Given the description of an element on the screen output the (x, y) to click on. 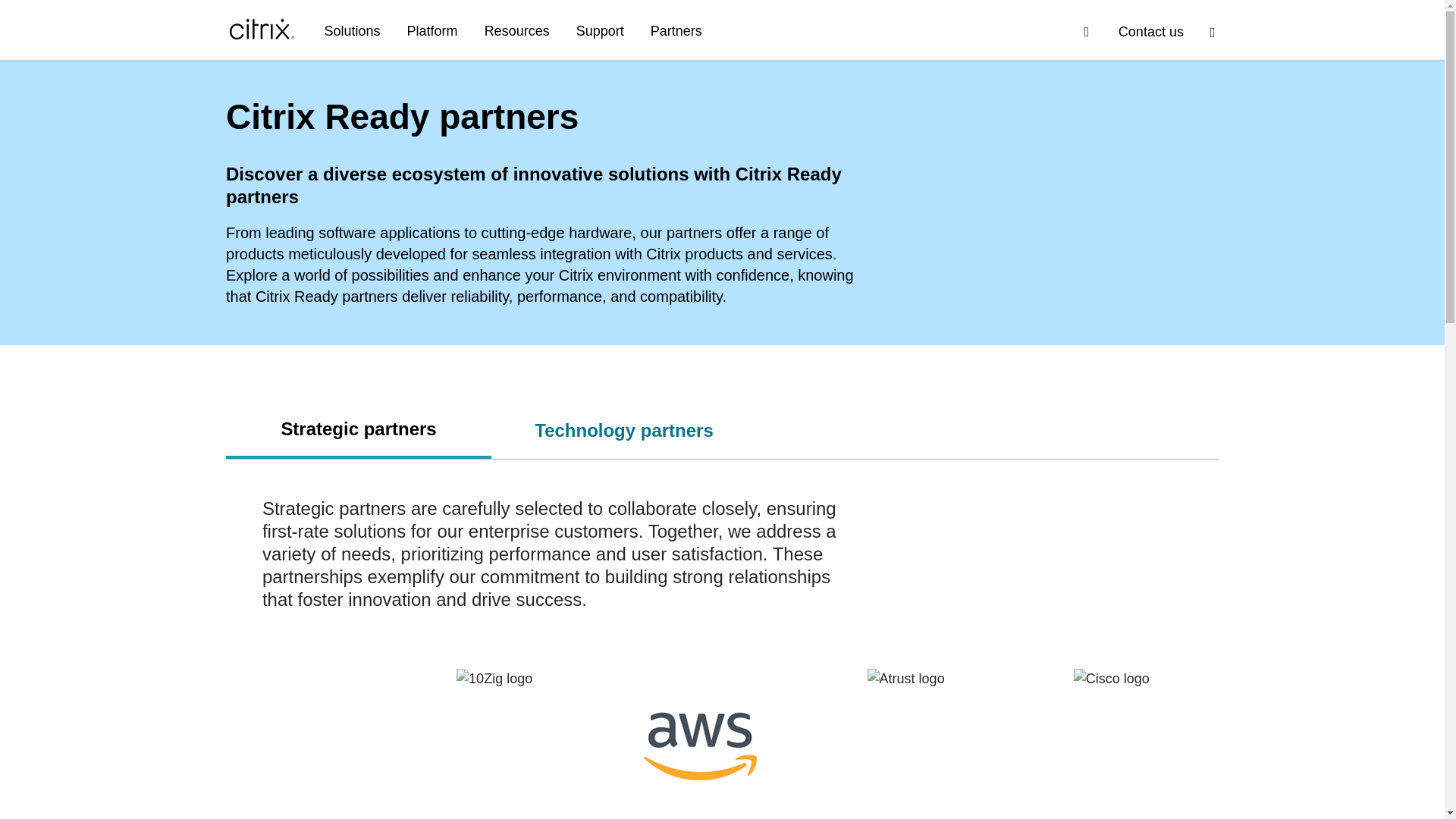
Platform (432, 31)
Solutions (352, 31)
Resources (517, 31)
